Given the description of an element on the screen output the (x, y) to click on. 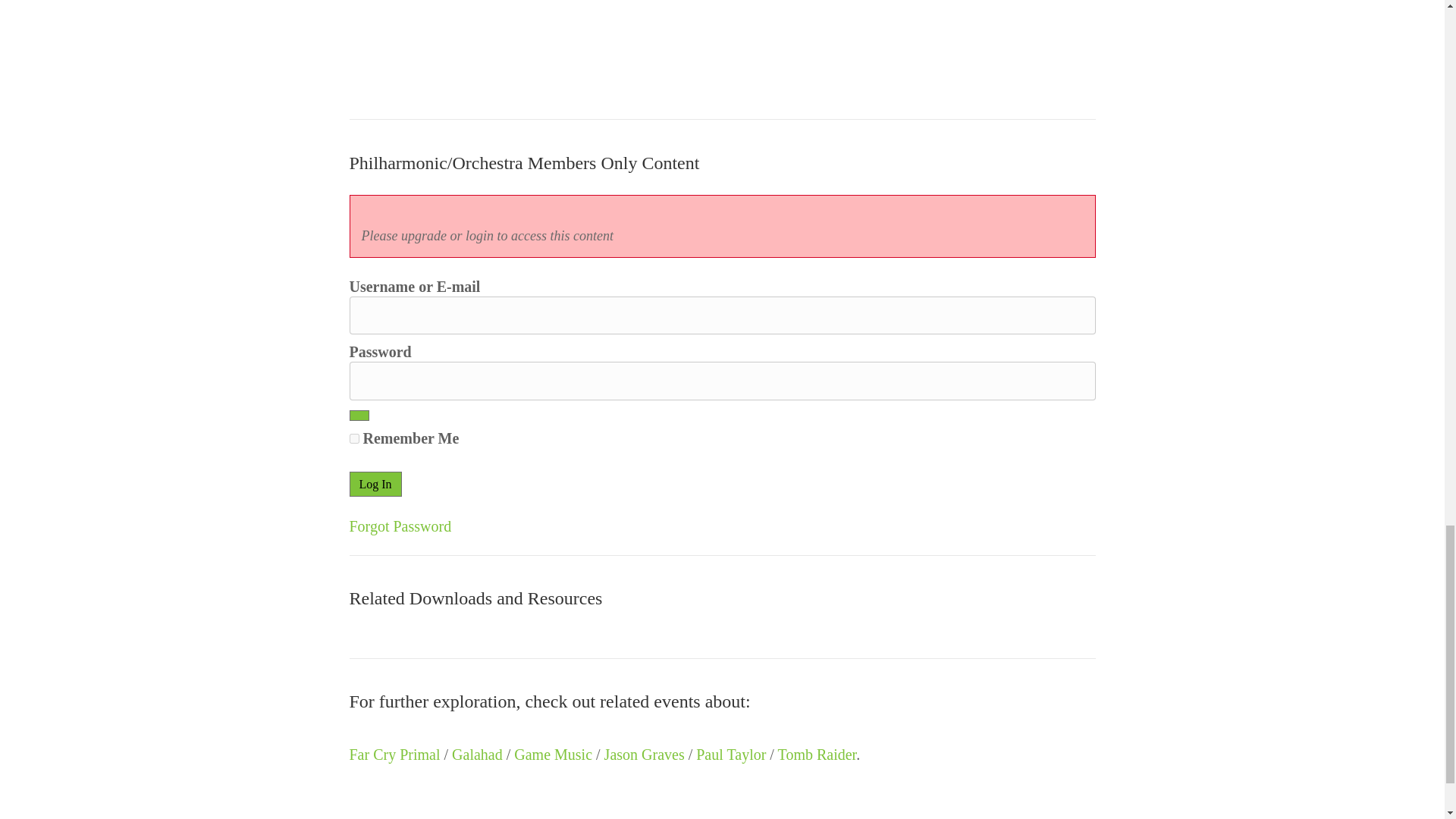
Log In (375, 483)
How Jason Graves Pitched and Scored Far Cry Primal (462, 42)
forever (353, 438)
